Given the description of an element on the screen output the (x, y) to click on. 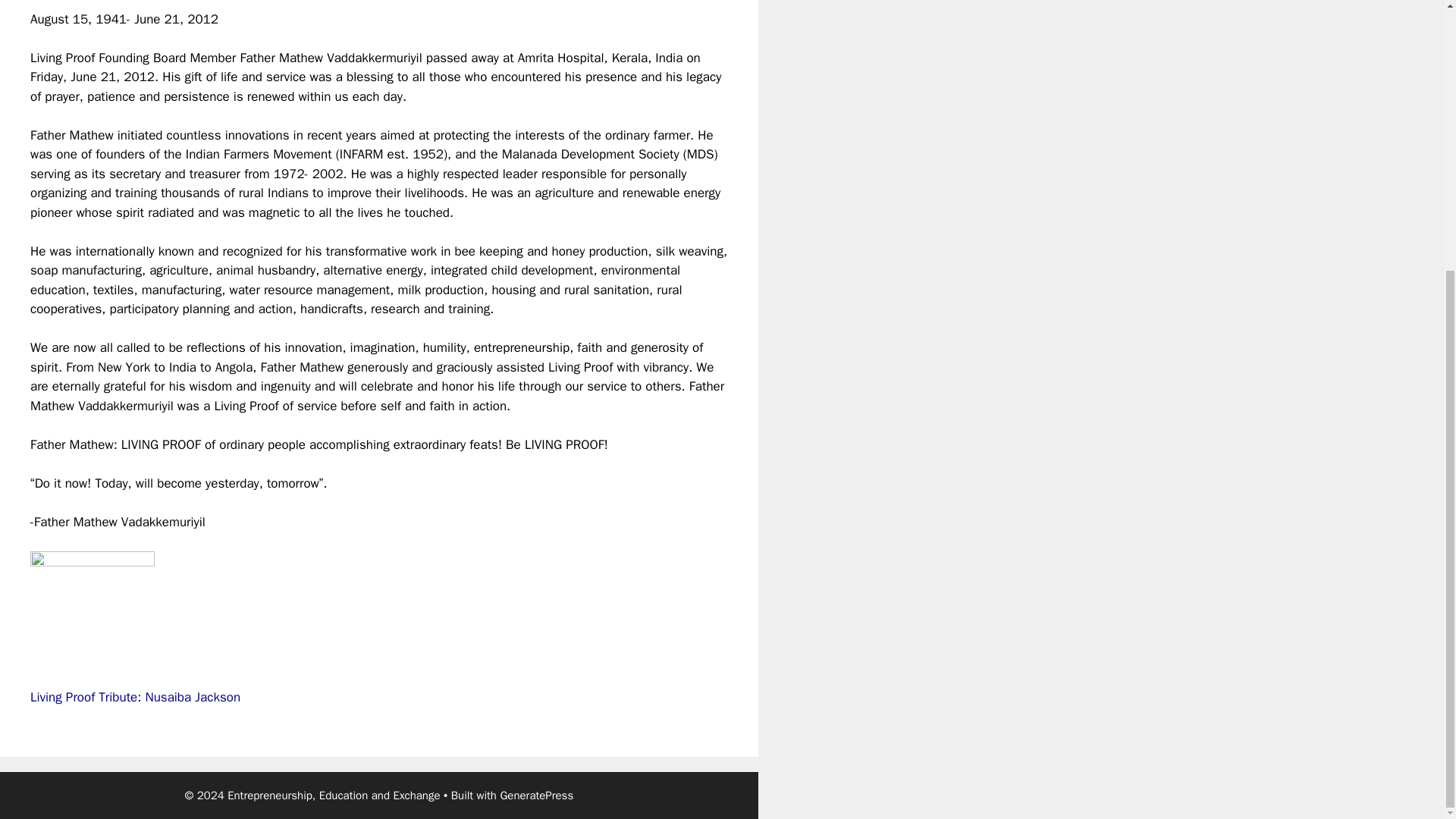
GeneratePress (536, 795)
